Given the description of an element on the screen output the (x, y) to click on. 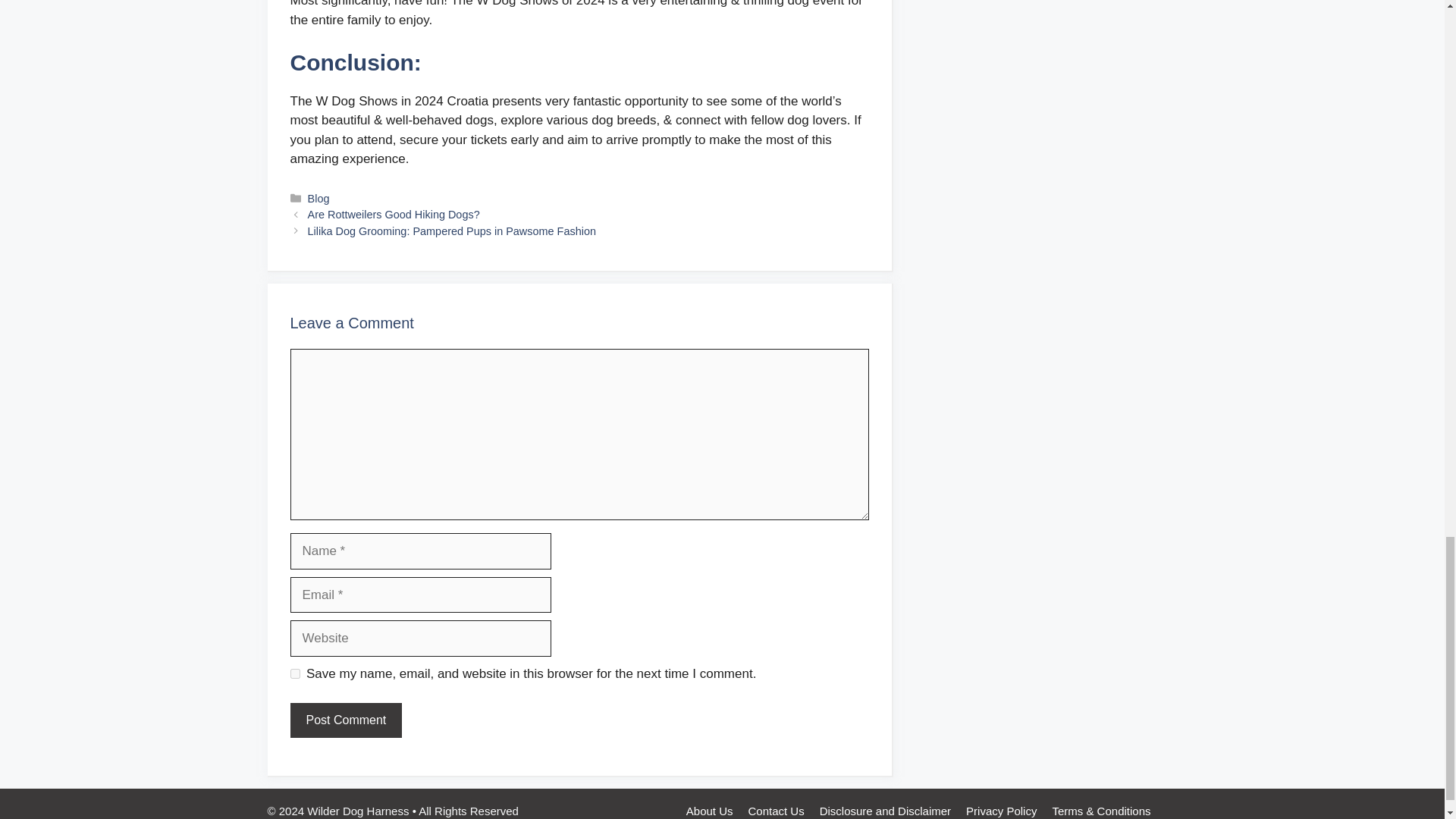
yes (294, 673)
Lilika Dog Grooming: Pampered Pups in Pawsome Fashion (451, 231)
Post Comment (345, 719)
Blog (318, 198)
Post Comment (345, 719)
Are Rottweilers Good Hiking Dogs? (393, 214)
